Given the description of an element on the screen output the (x, y) to click on. 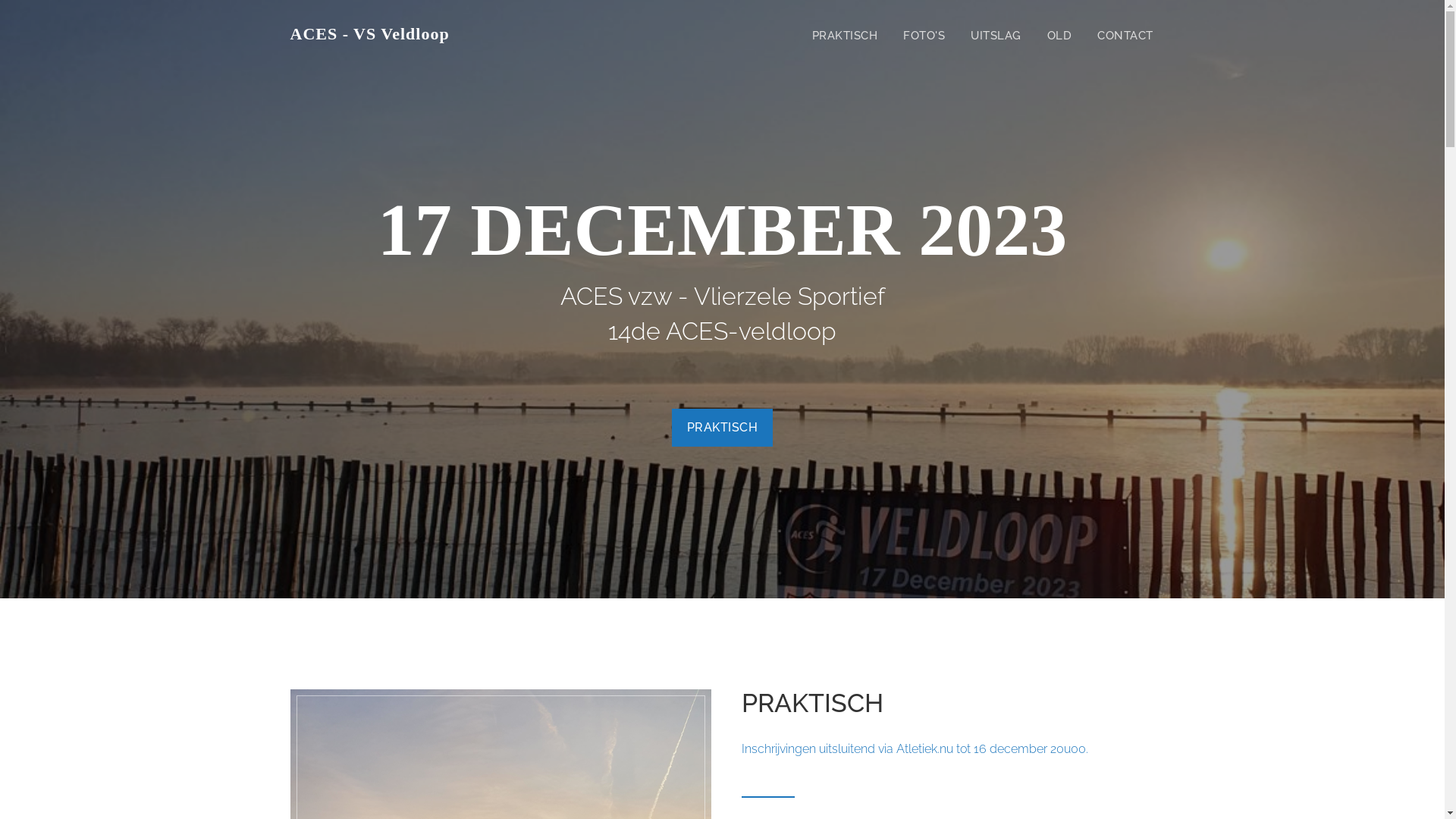
UITSLAG Element type: text (995, 35)
PRAKTISCH Element type: text (843, 35)
OLD Element type: text (1058, 35)
PRAKTISCH Element type: text (722, 426)
ACES - VS Veldloop Element type: text (370, 34)
CONTACT Element type: text (1124, 35)
FOTO'S Element type: text (923, 35)
